Given the description of an element on the screen output the (x, y) to click on. 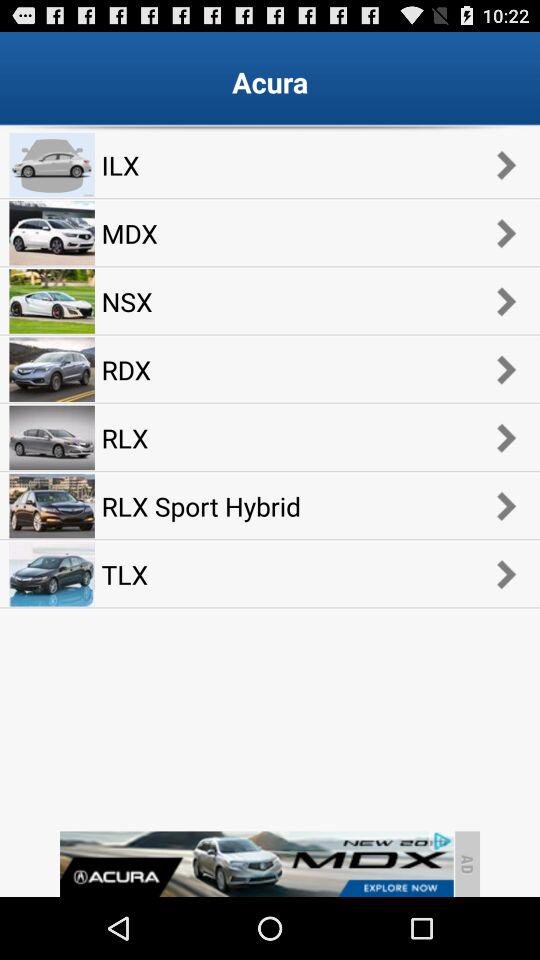
click the advertisement at bottom (256, 864)
